Given the description of an element on the screen output the (x, y) to click on. 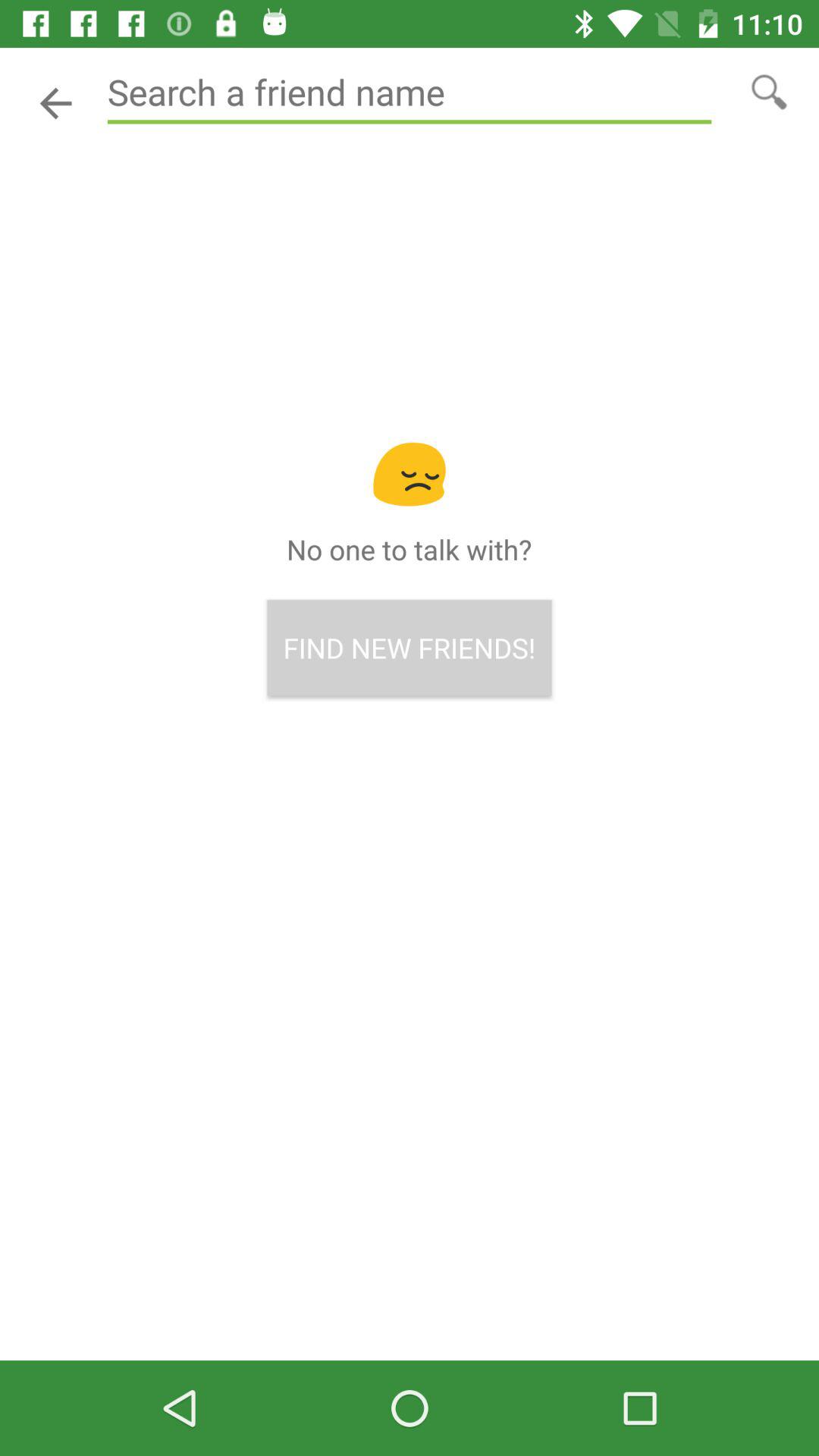
return previous screen (55, 103)
